Given the description of an element on the screen output the (x, y) to click on. 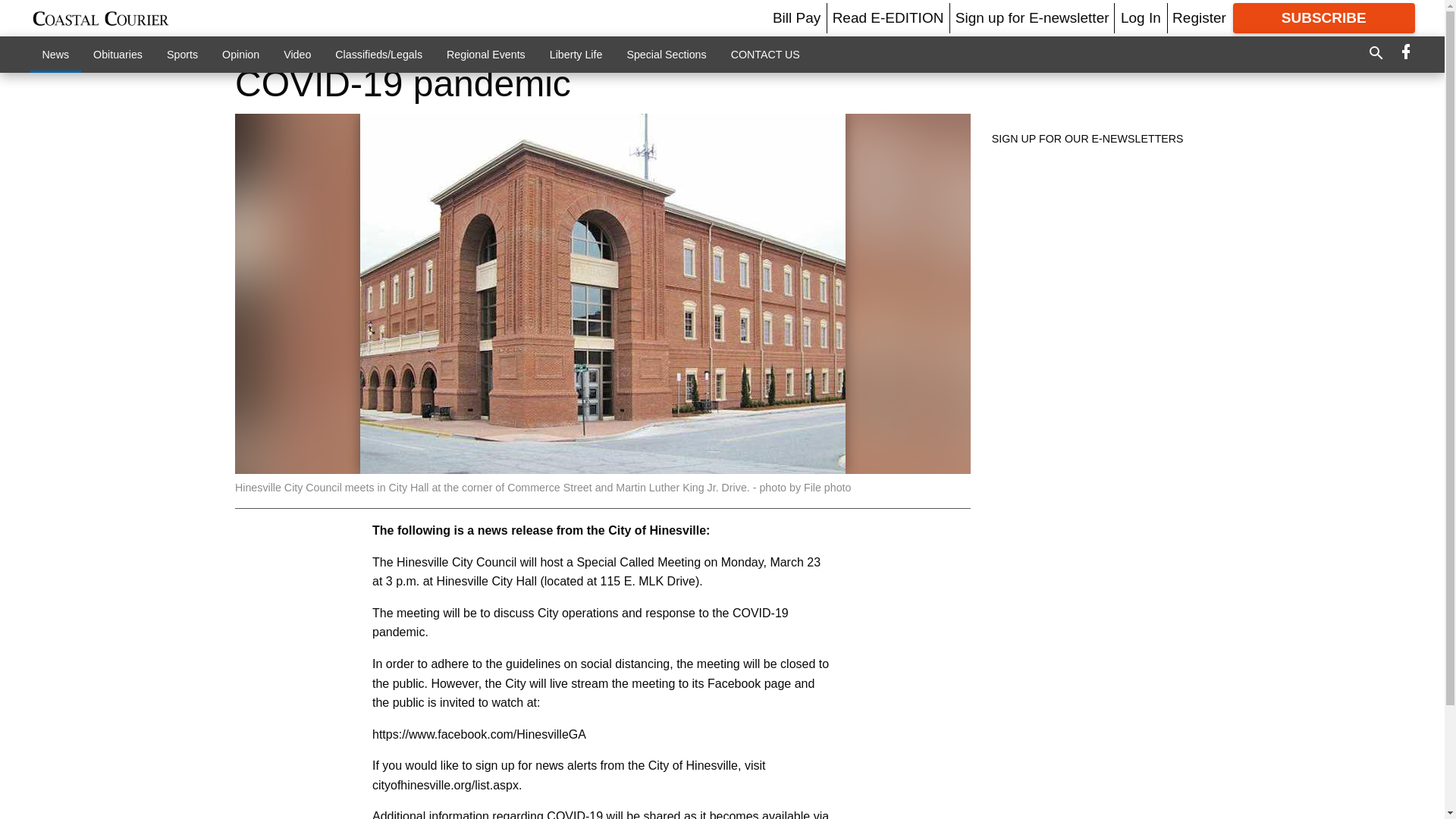
Opinion (239, 54)
Log In (1140, 17)
Bill Pay (797, 17)
Obituaries (117, 54)
Sports (181, 54)
Sign up for E-newsletter (1032, 17)
Read E-EDITION (887, 17)
Register (1198, 17)
Video (296, 54)
News (55, 54)
